Given the description of an element on the screen output the (x, y) to click on. 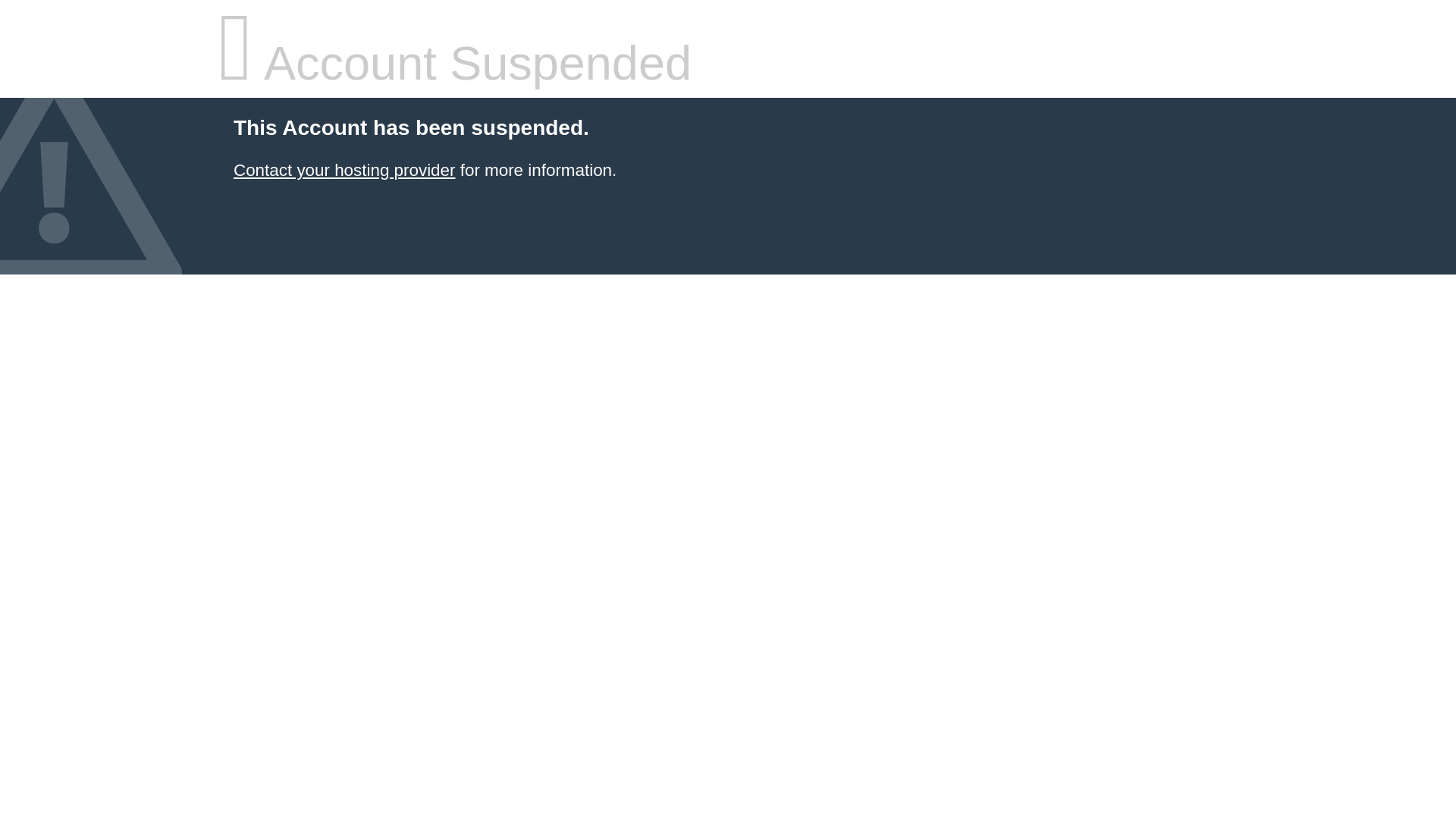
Contact your hosting provider (343, 169)
